Given the description of an element on the screen output the (x, y) to click on. 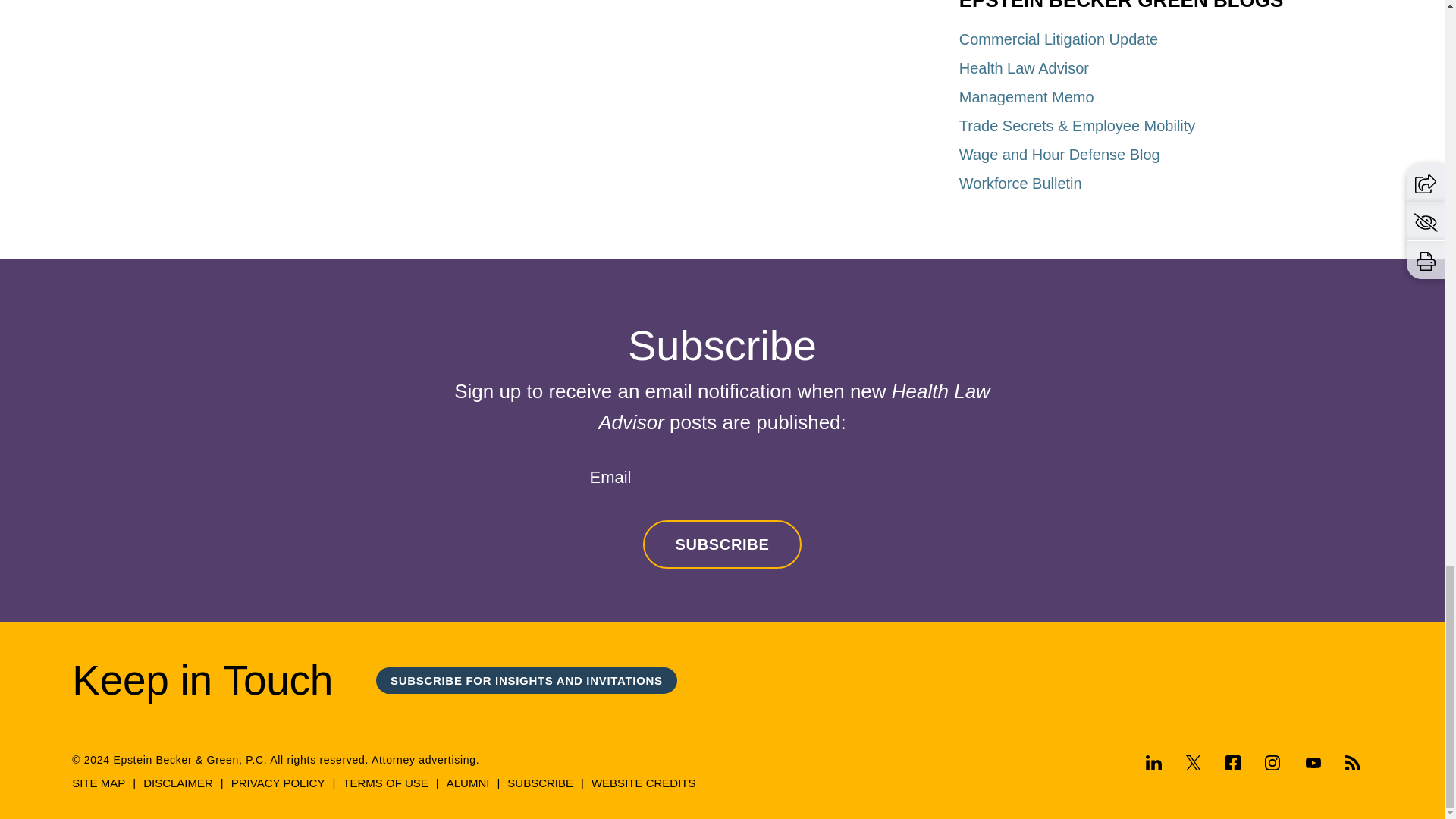
Facebook (1232, 764)
Youtube (1313, 764)
Instagram (1273, 764)
Linkedin (1159, 764)
Twitter (1192, 764)
Twitter (1193, 762)
Linkedin (1153, 762)
Instagram (1273, 762)
Facebook (1232, 762)
